Given the description of an element on the screen output the (x, y) to click on. 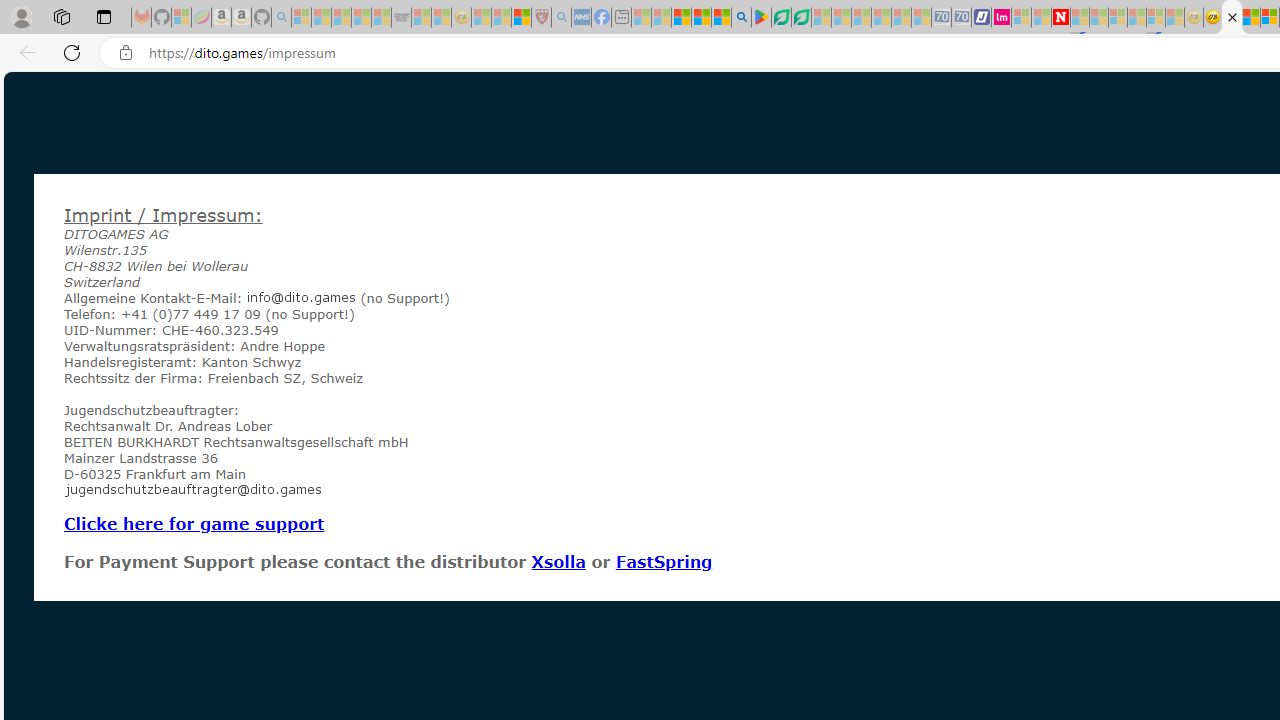
DITOGAMES AG Imprint (1231, 17)
Microsoft-Report a Concern to Bing - Sleeping (180, 17)
Cheap Car Rentals - Save70.com - Sleeping (941, 17)
Robert H. Shmerling, MD - Harvard Health - Sleeping (541, 17)
MSNBC - MSN - Sleeping (641, 17)
Terms of Use Agreement (781, 17)
Pets - MSN (701, 17)
NCL Adult Asthma Inhaler Choice Guideline - Sleeping (581, 17)
